Given the description of an element on the screen output the (x, y) to click on. 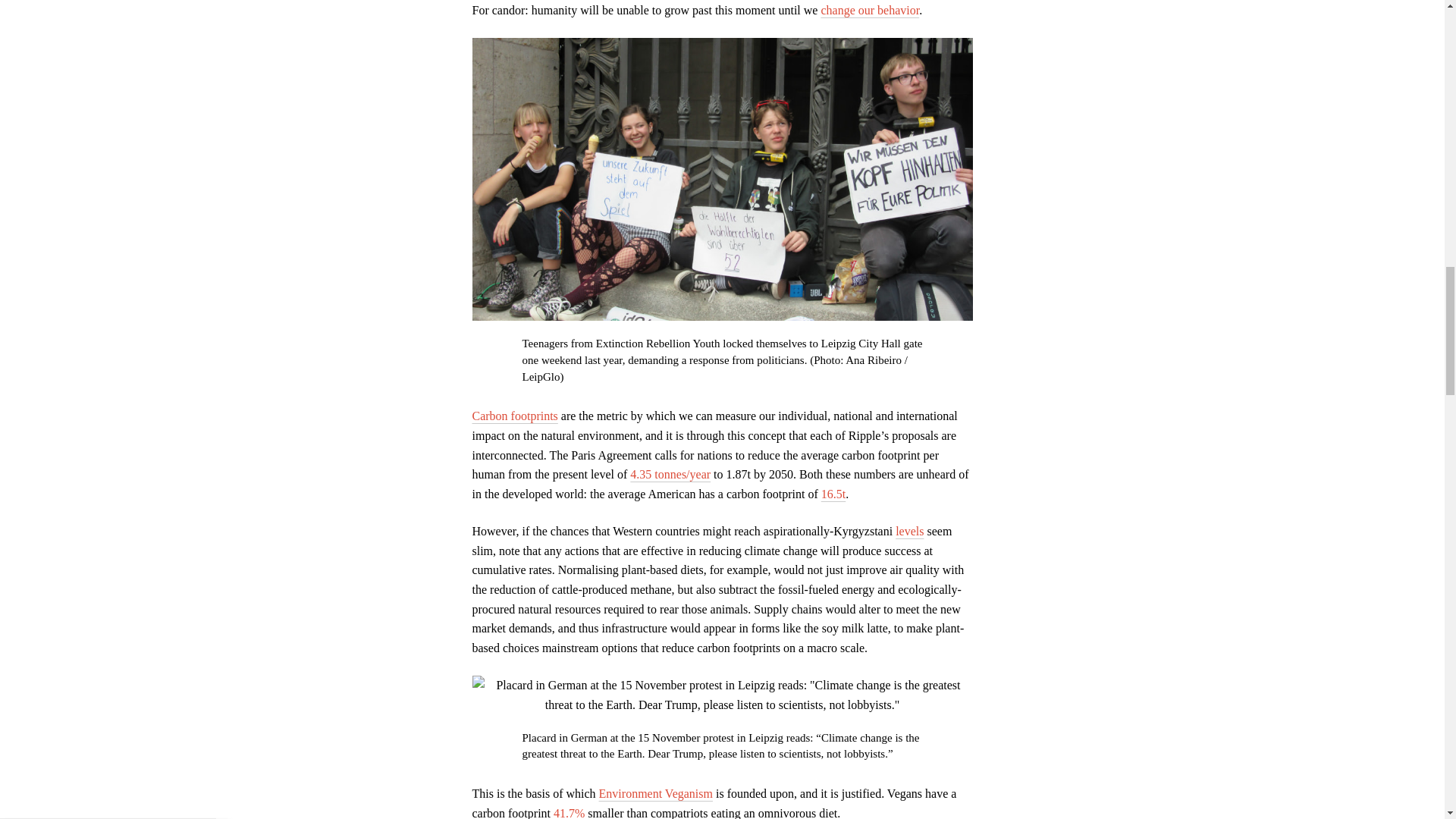
16.5t (833, 493)
change our behavior (869, 10)
Carbon footprints (514, 415)
Environment Veganism (655, 793)
levels (909, 530)
